Given the description of an element on the screen output the (x, y) to click on. 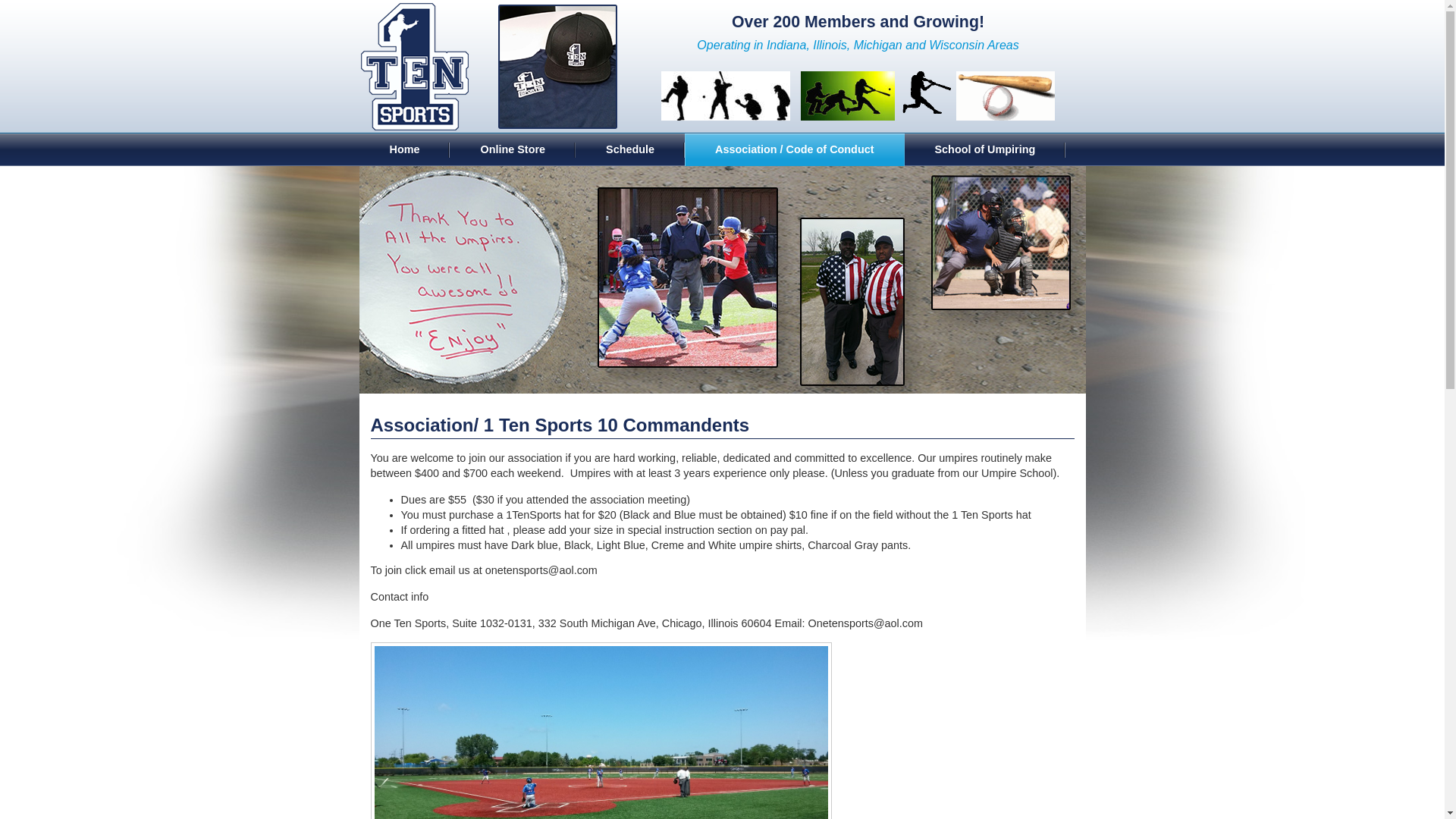
Schedule Element type: text (629, 149)
Online Store Element type: text (512, 149)
School of Umpiring Element type: text (984, 149)
Home Element type: text (404, 149)
Association / Code of Conduct Element type: text (793, 149)
